Given the description of an element on the screen output the (x, y) to click on. 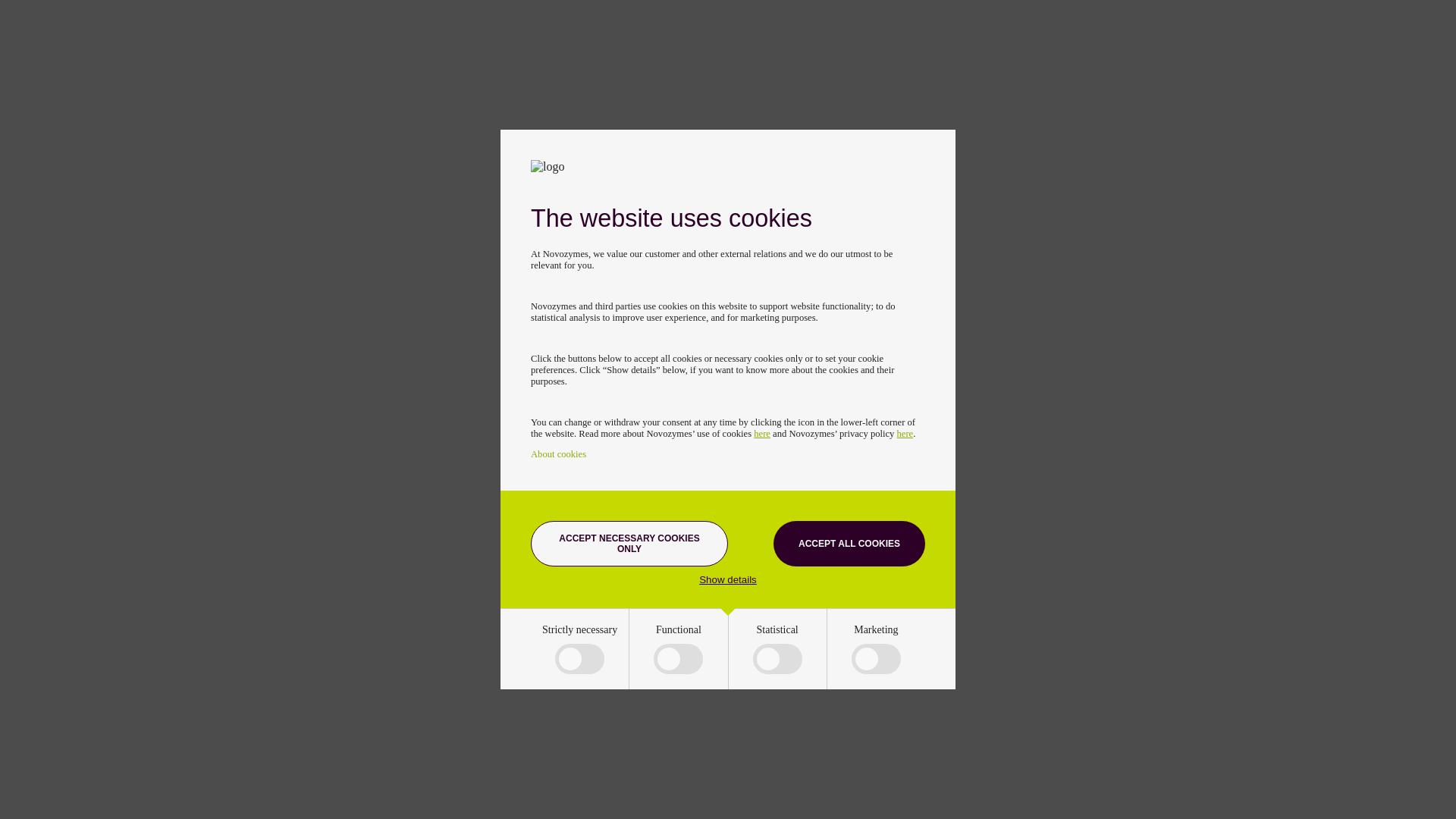
About cookies (558, 453)
here (762, 433)
ACCEPT NECESSARY COOKIES ONLY (629, 543)
here (905, 433)
Show details (727, 579)
ACCEPT ALL COOKIES (848, 543)
